Given the description of an element on the screen output the (x, y) to click on. 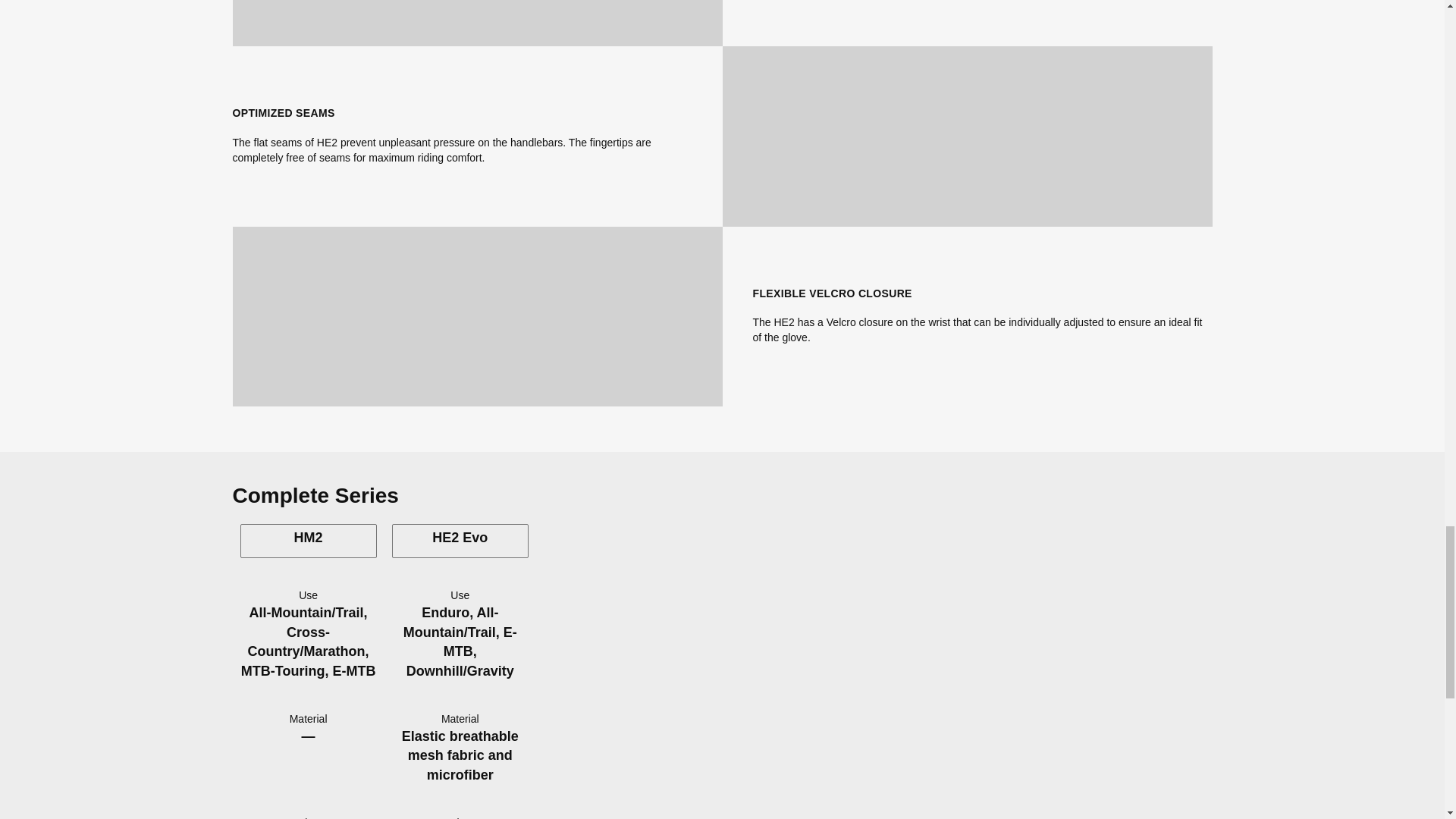
HM2 (307, 540)
HE2 Evo (459, 540)
